Given the description of an element on the screen output the (x, y) to click on. 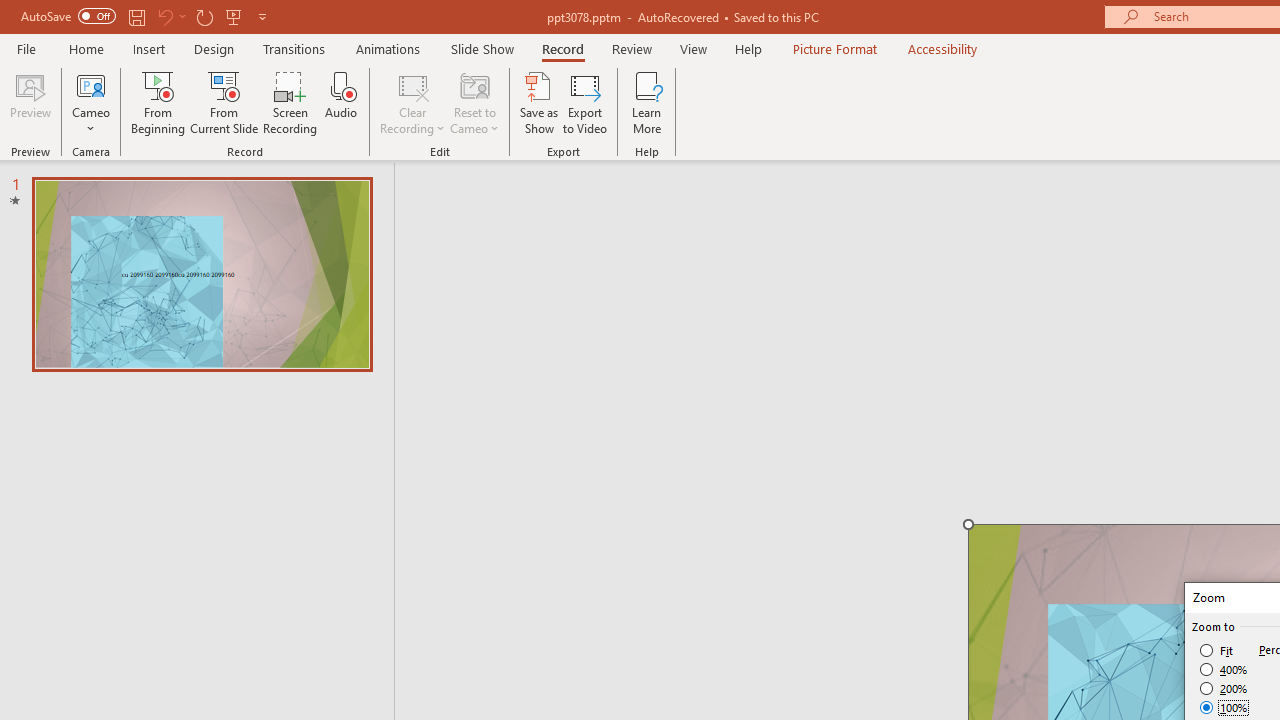
100% (1224, 707)
400% (1224, 669)
